Given the description of an element on the screen output the (x, y) to click on. 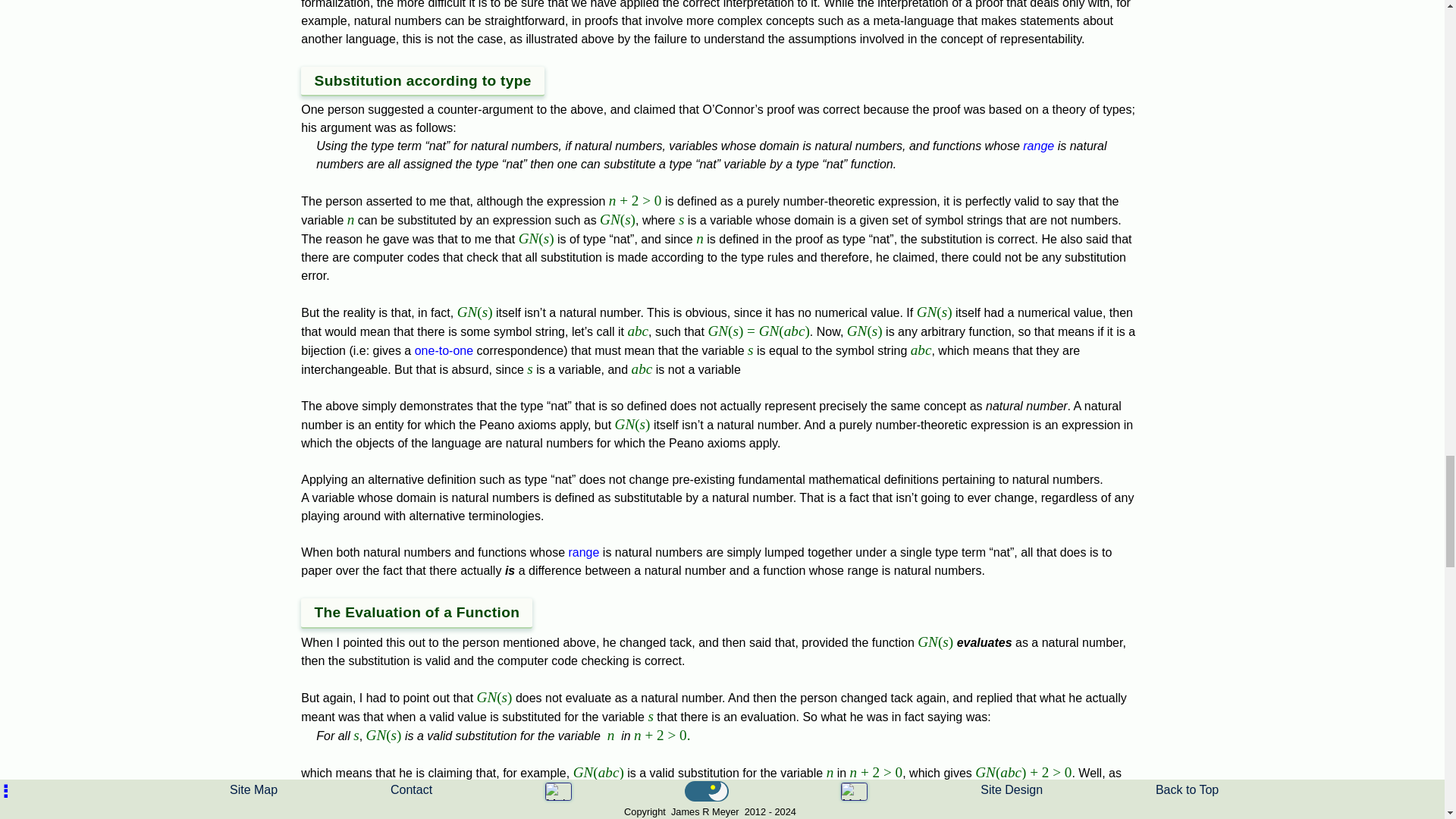
one-to-one (443, 350)
range (1038, 145)
range (582, 552)
